Given the description of an element on the screen output the (x, y) to click on. 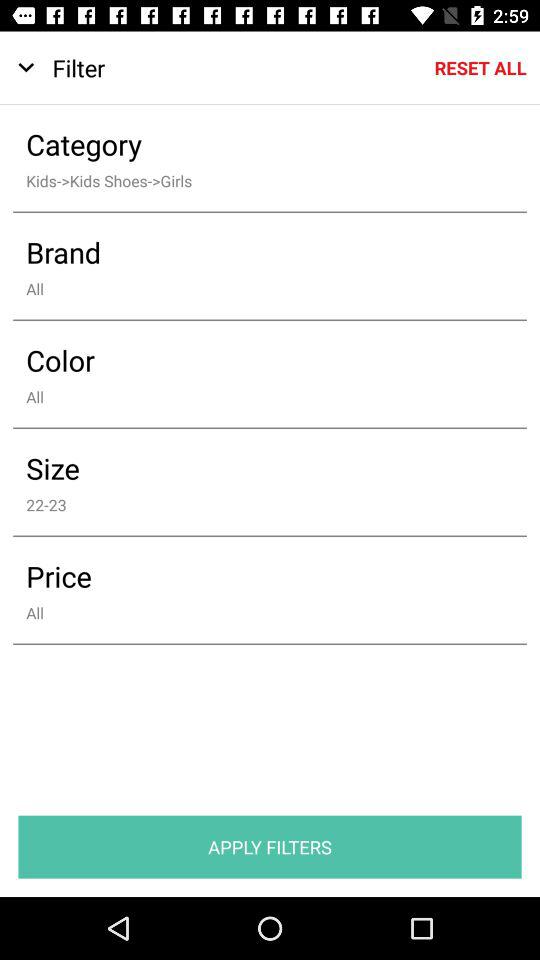
open icon below 22-23 (256, 575)
